Given the description of an element on the screen output the (x, y) to click on. 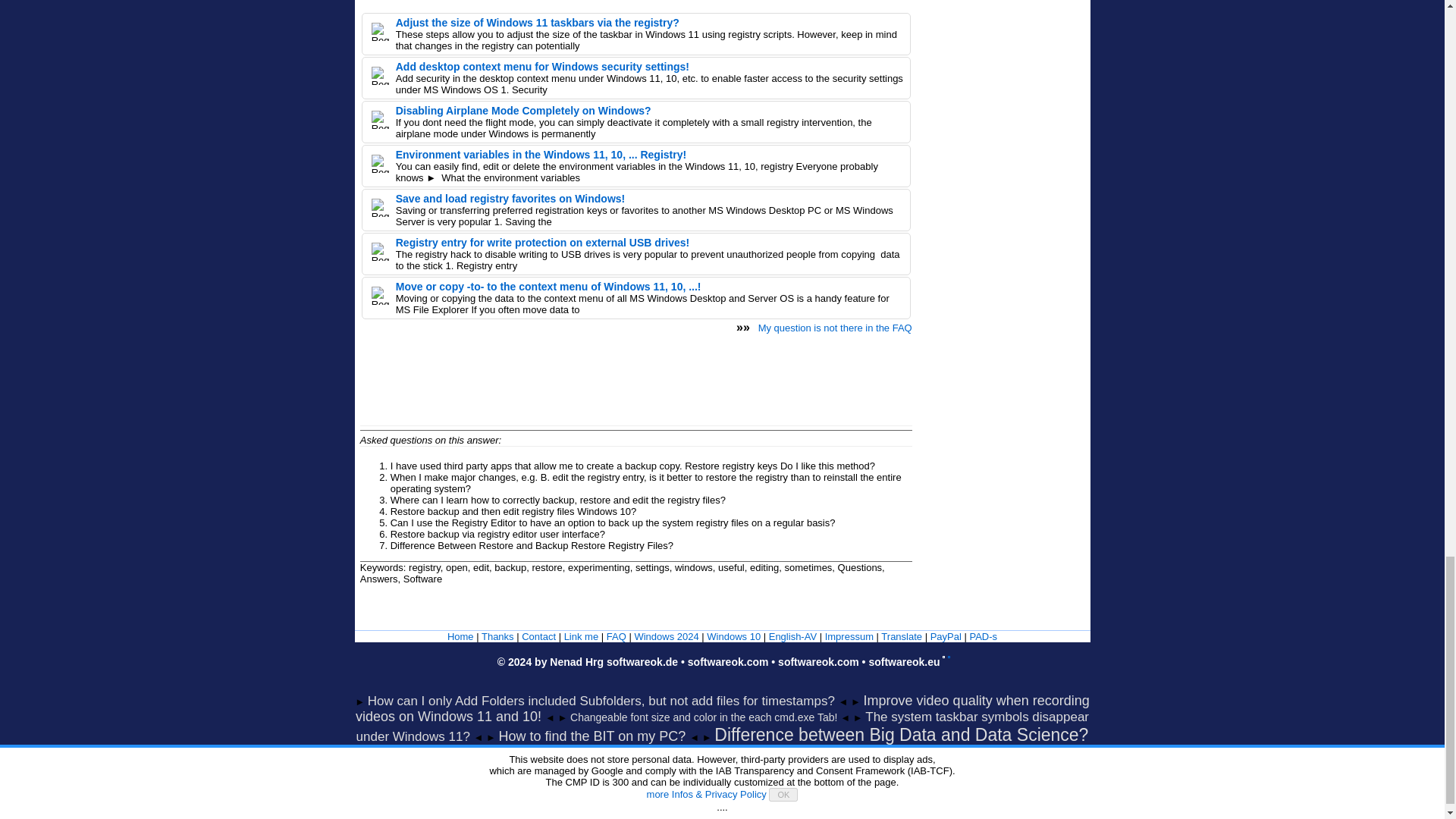
Adjust the size of Windows 11 taskbars via the registry? (537, 22)
Disabling Airplane Mode Completely on Windows? (523, 110)
Save and load registry favorites on Windows! (511, 198)
Registry entry for write protection on external USB drives! (542, 242)
Add desktop context menu for Windows security settings! (542, 66)
Tips for Windows 11 (665, 636)
Asked questions on this answer: (429, 439)
Environment variables in the Windows 11, 10, ... Registry! (540, 154)
Tips for Windows 10 (733, 636)
